Given the description of an element on the screen output the (x, y) to click on. 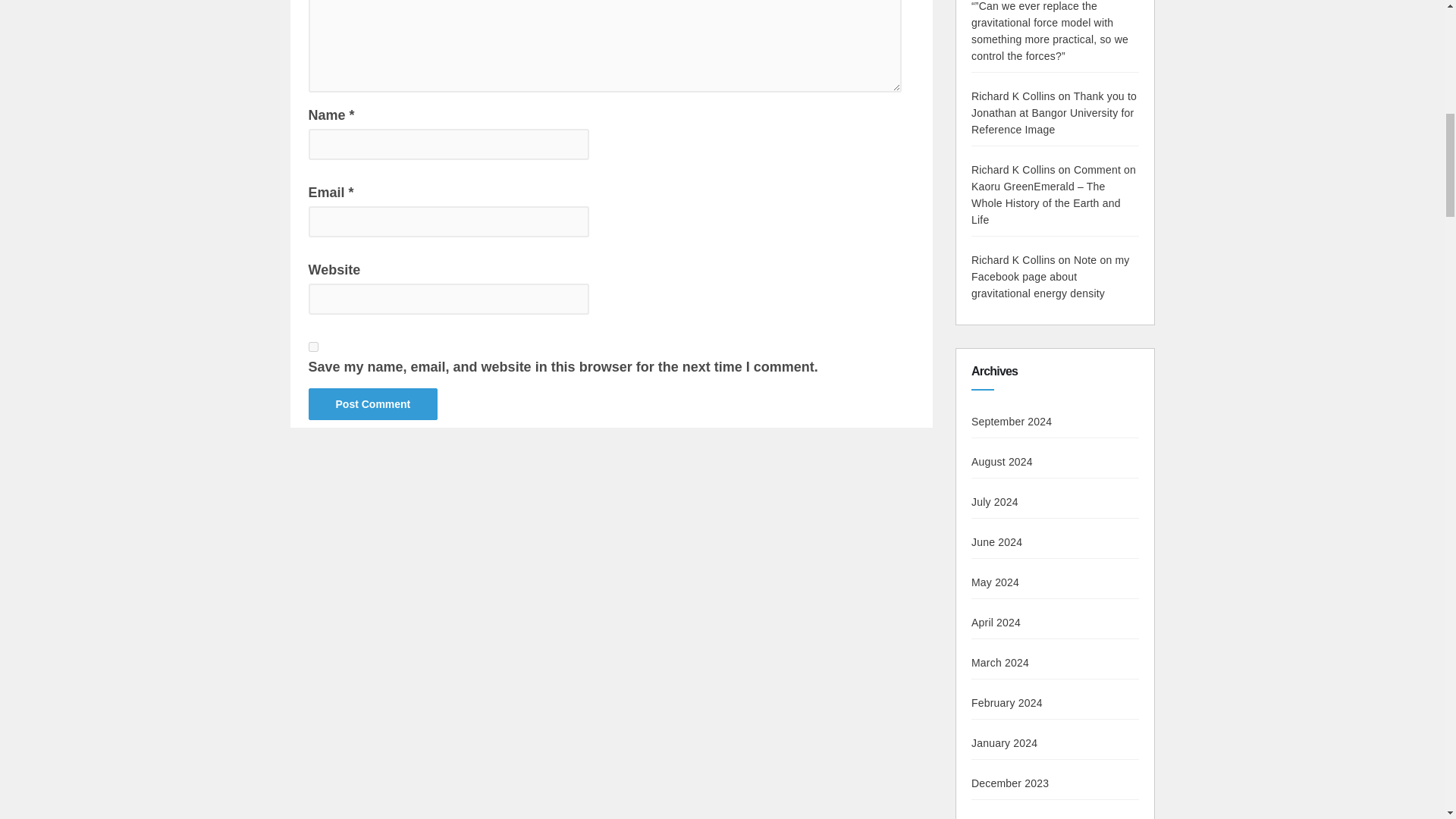
Richard K Collins (1013, 169)
Post Comment (372, 404)
May 2024 (995, 582)
Note on my Facebook page about gravitational energy density (1050, 276)
December 2023 (1009, 783)
April 2024 (995, 622)
January 2024 (1003, 743)
yes (312, 347)
June 2024 (996, 541)
September 2024 (1011, 421)
